Given the description of an element on the screen output the (x, y) to click on. 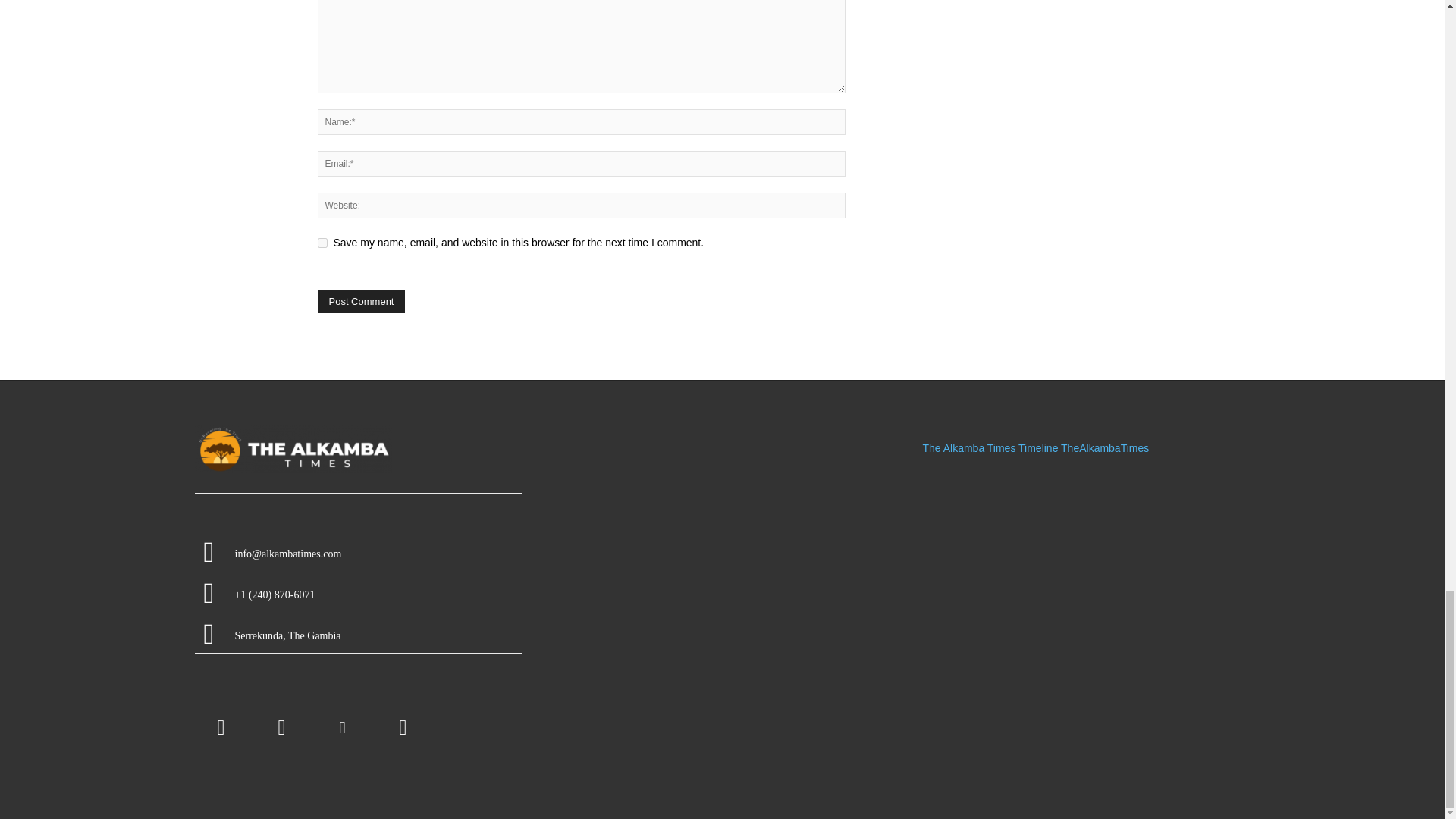
Post Comment (360, 300)
yes (321, 243)
